Given the description of an element on the screen output the (x, y) to click on. 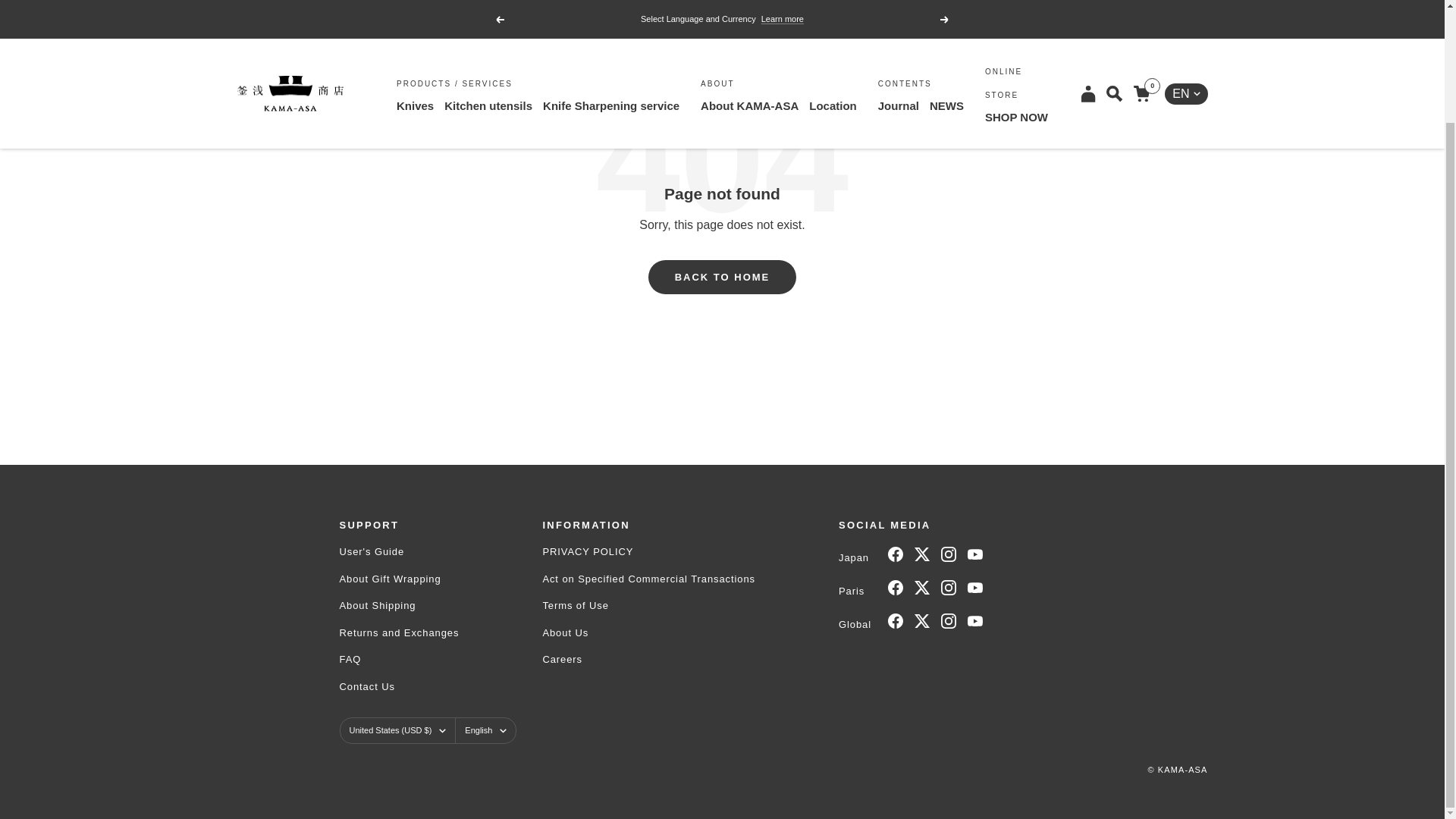
ja (1175, 42)
BACK TO HOME (721, 277)
About Gift Wrapping (399, 577)
User's Guide (399, 551)
About Shipping (399, 605)
en (1175, 14)
